Given the description of an element on the screen output the (x, y) to click on. 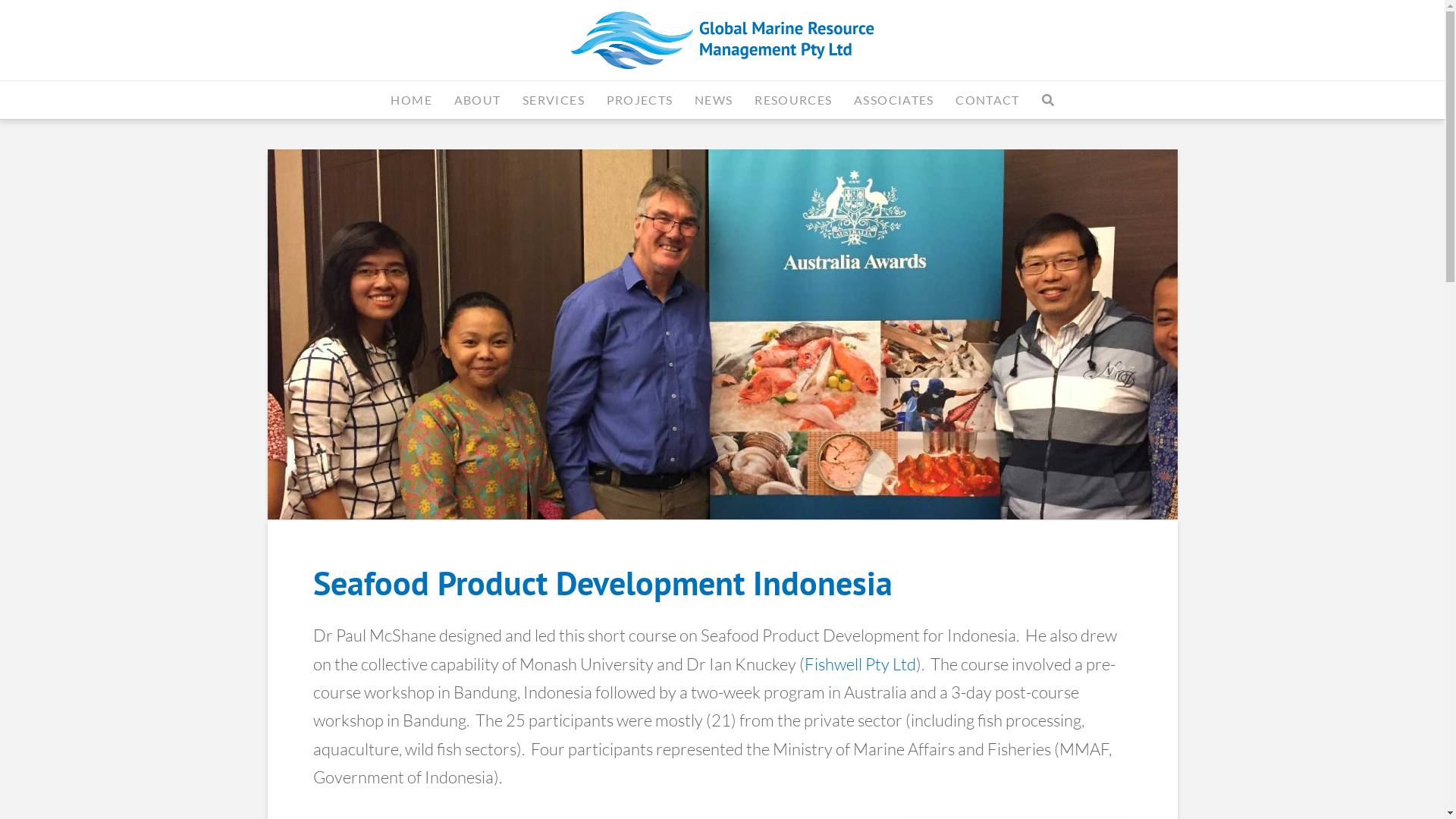
HOME Element type: text (410, 99)
RESOURCES Element type: text (792, 99)
PROJECTS Element type: text (639, 99)
ABOUT Element type: text (476, 99)
CONTACT Element type: text (986, 99)
Fishwell Pty Ltd Element type: text (859, 663)
SERVICES Element type: text (553, 99)
NEWS Element type: text (713, 99)
ASSOCIATES Element type: text (893, 99)
